Given the description of an element on the screen output the (x, y) to click on. 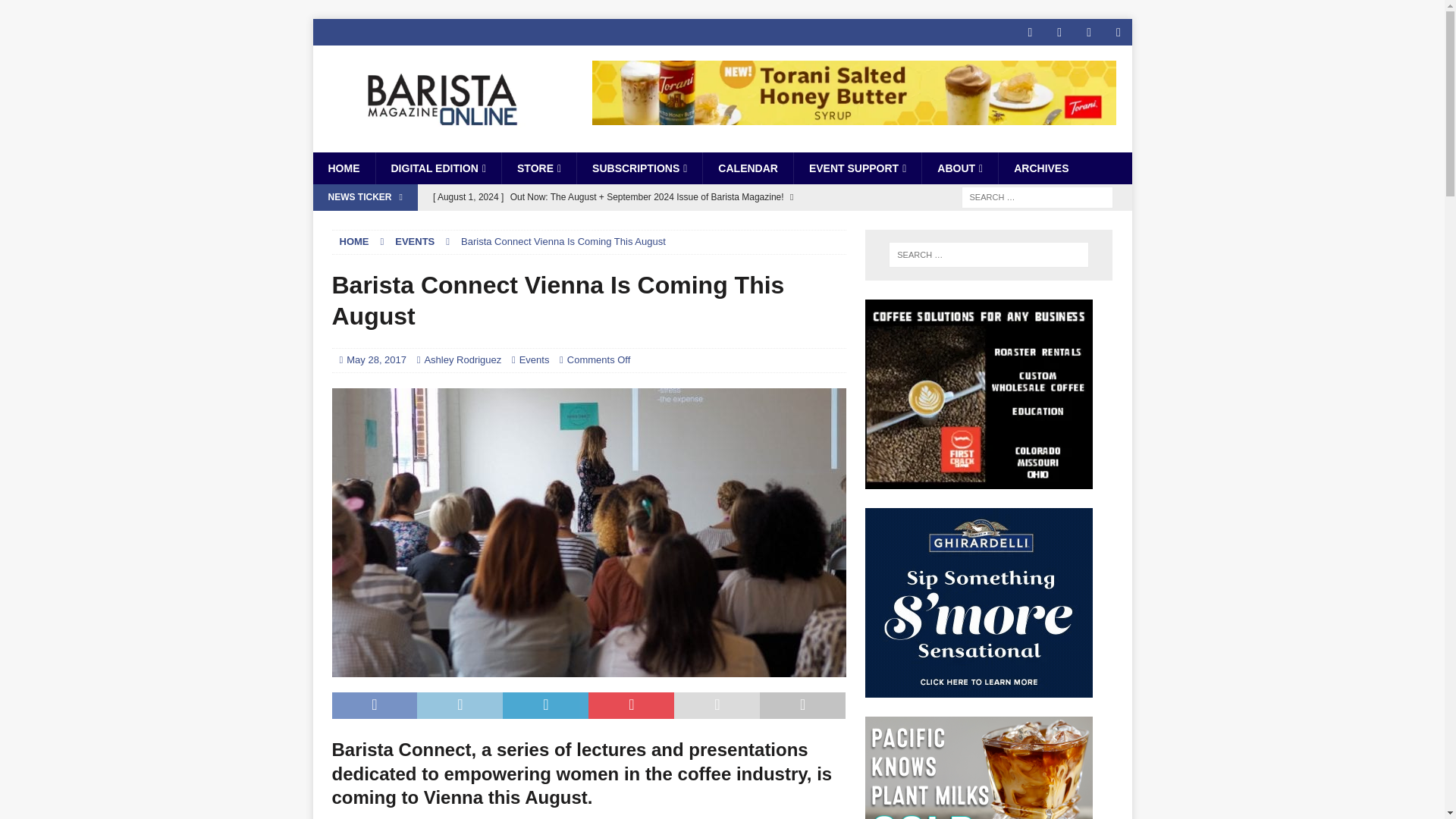
DIGITAL EDITION (437, 168)
HOME (343, 168)
